Given the description of an element on the screen output the (x, y) to click on. 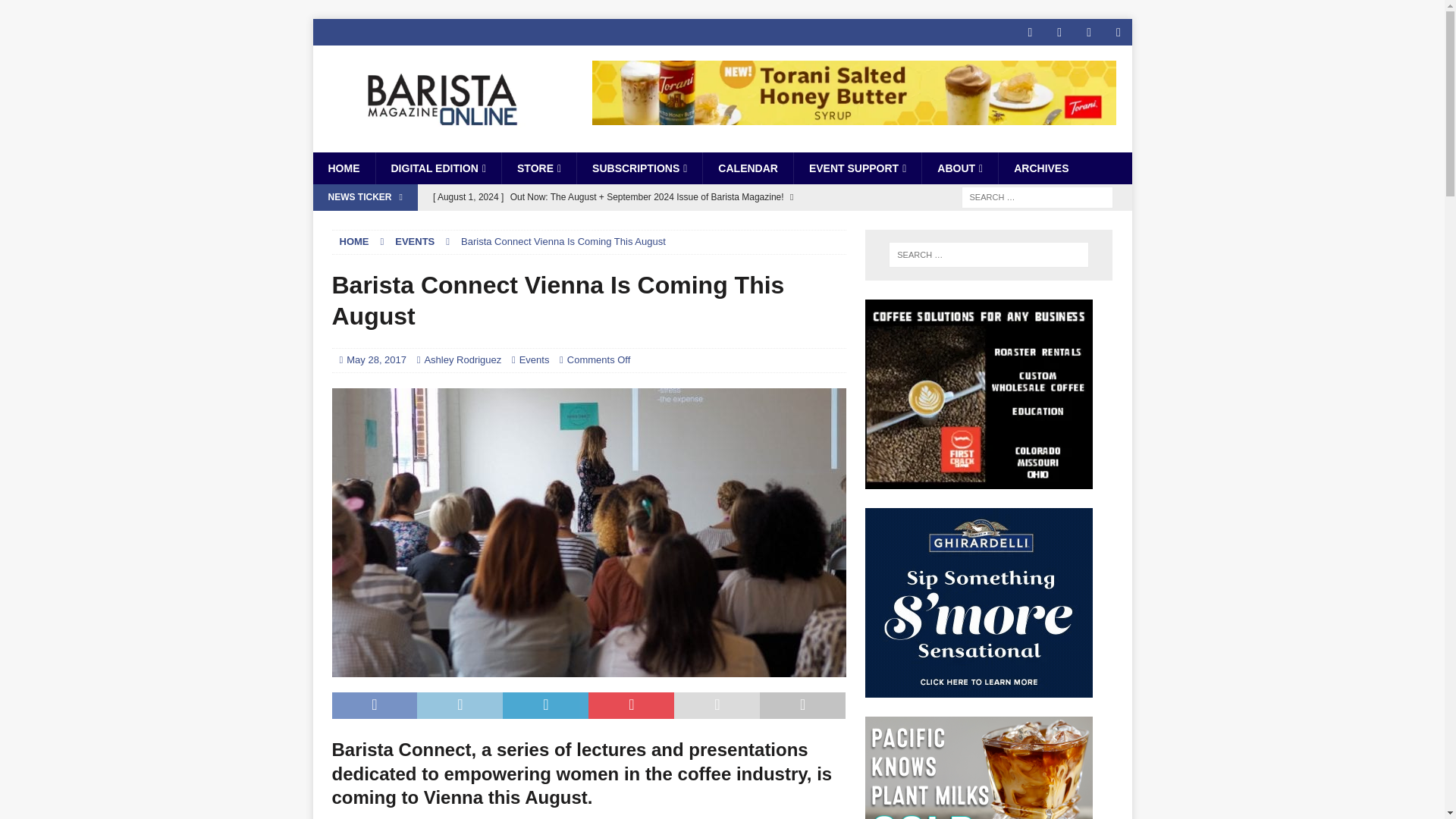
DIGITAL EDITION (437, 168)
HOME (343, 168)
